Given the description of an element on the screen output the (x, y) to click on. 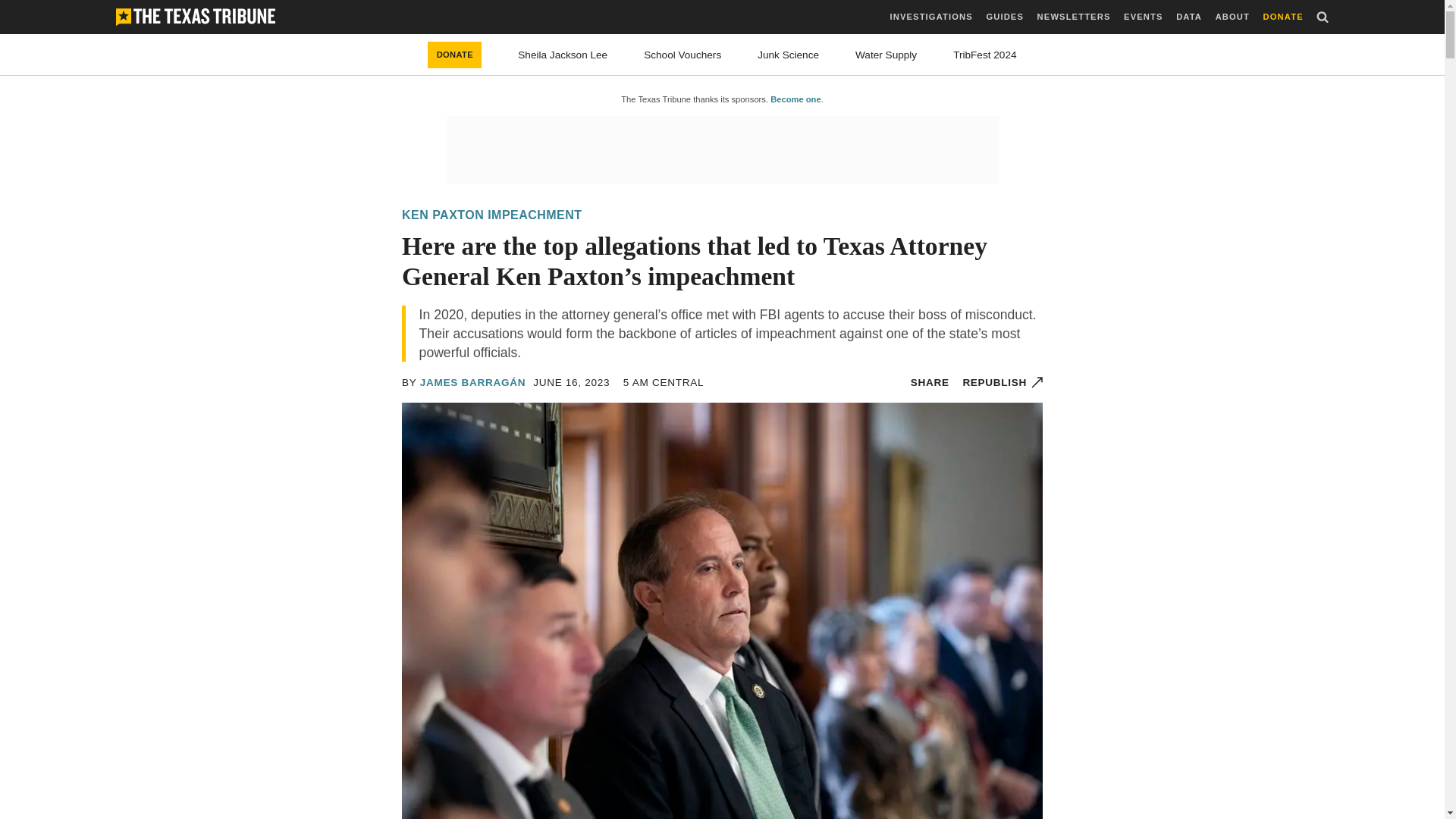
School Vouchers (681, 54)
2023-06-16 05:00 CDT (571, 382)
Sheila Jackson Lee (562, 54)
EVENTS (1142, 17)
DONATE (1283, 17)
KEN PAXTON IMPEACHMENT (491, 214)
NEWSLETTERS (1073, 17)
2023-06-16 05:00 CDT (663, 382)
Water Supply (886, 54)
TribFest 2024 (984, 54)
